Given the description of an element on the screen output the (x, y) to click on. 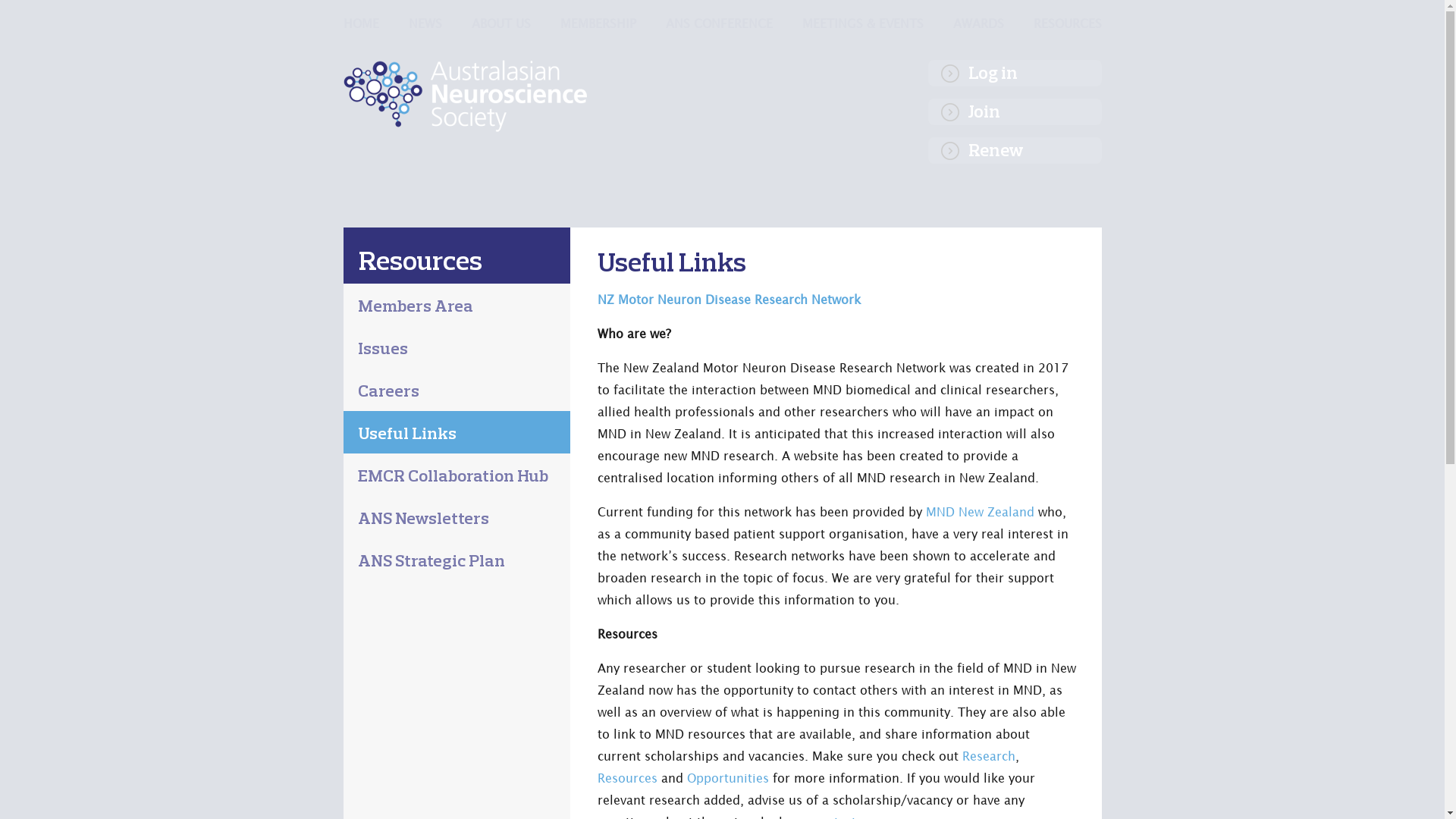
Resources Element type: text (629, 777)
AWARDS Element type: text (977, 23)
RESOURCES Element type: text (1066, 23)
ABOUT US Element type: text (500, 23)
MEMBERSHIP Element type: text (597, 23)
EMCR Collaboration Hub Element type: text (455, 474)
MEETINGS & EVENTS Element type: text (862, 23)
ANS CONFERENCE Element type: text (718, 23)
NZ Motor Neuron Disease Research Network Element type: text (728, 299)
Join Element type: text (1014, 111)
Members Area Element type: text (455, 304)
Renew Element type: text (1014, 150)
Research Element type: text (987, 755)
Issues Element type: text (455, 347)
Useful Links Element type: text (455, 432)
HOME Element type: text (360, 23)
MND New Zealand Element type: text (981, 511)
Log in Element type: text (1014, 72)
ANS Strategic Plan Element type: text (455, 559)
NEWS Element type: text (424, 23)
Careers Element type: text (455, 389)
Resources Element type: text (419, 259)
ANS Newsletters Element type: text (455, 516)
Opportunities Element type: text (729, 777)
